Given the description of an element on the screen output the (x, y) to click on. 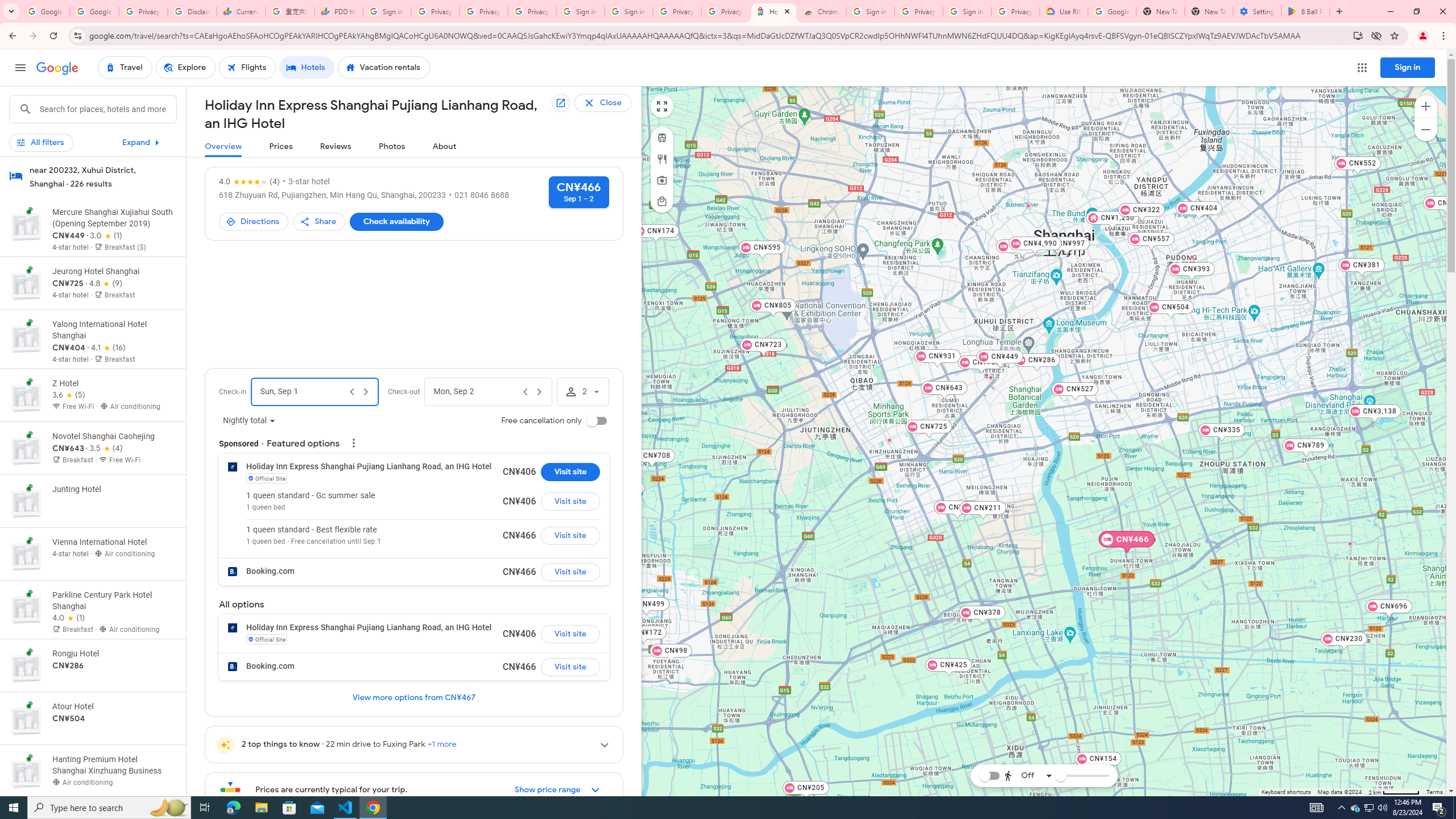
Show price range (556, 789)
Install Trips all in one place (1358, 35)
Privacy Checkup (483, 11)
